Given the description of an element on the screen output the (x, y) to click on. 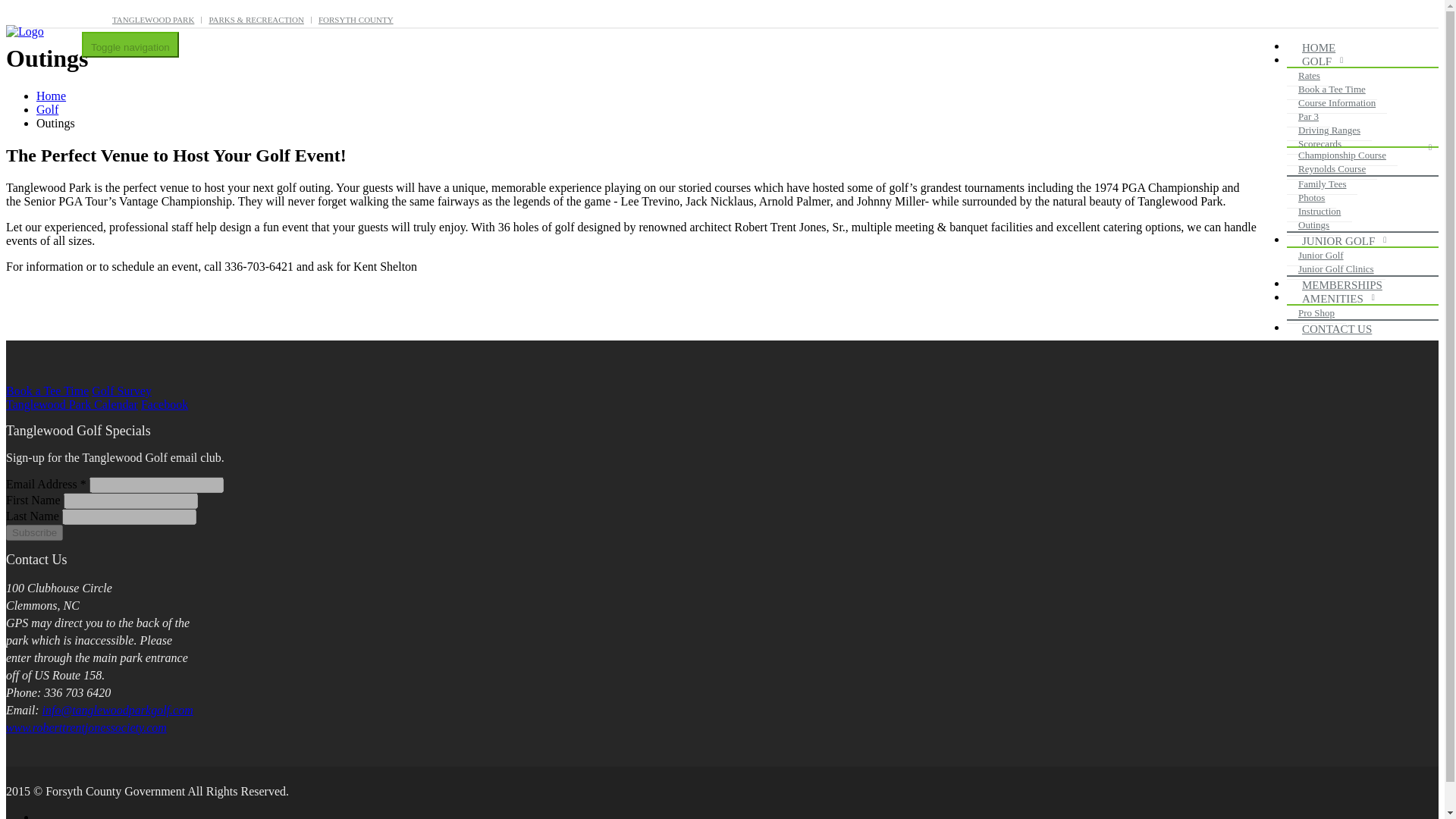
GOLF (1320, 62)
Facebook (164, 404)
Pro Shop (1316, 312)
Rates (1309, 75)
Tanglewood Park Calendar (71, 404)
CONTACT US (1340, 329)
HOME (1322, 48)
AMENITIES (1336, 298)
Reynolds Course (1332, 168)
Toggle navigation (130, 44)
